Given the description of an element on the screen output the (x, y) to click on. 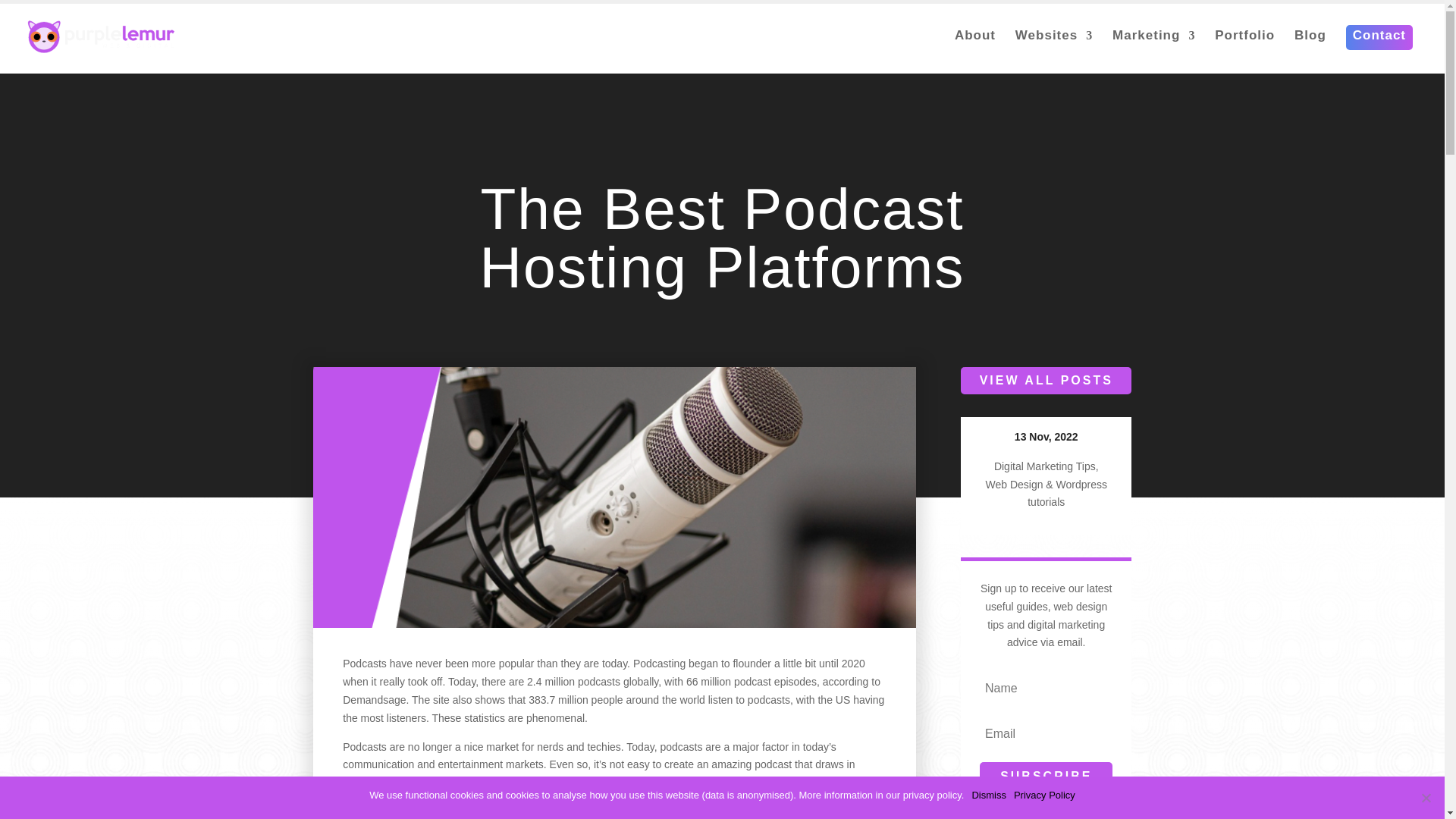
Portfolio (1244, 48)
Contact (1379, 48)
Websites (1053, 48)
VIEW ALL POSTS (1045, 380)
SUBSCRIBE (1045, 776)
Refuse Cookies (1425, 797)
Blog (1310, 48)
Marketing (1153, 48)
Digital Marketing Tips (1045, 466)
